Given the description of an element on the screen output the (x, y) to click on. 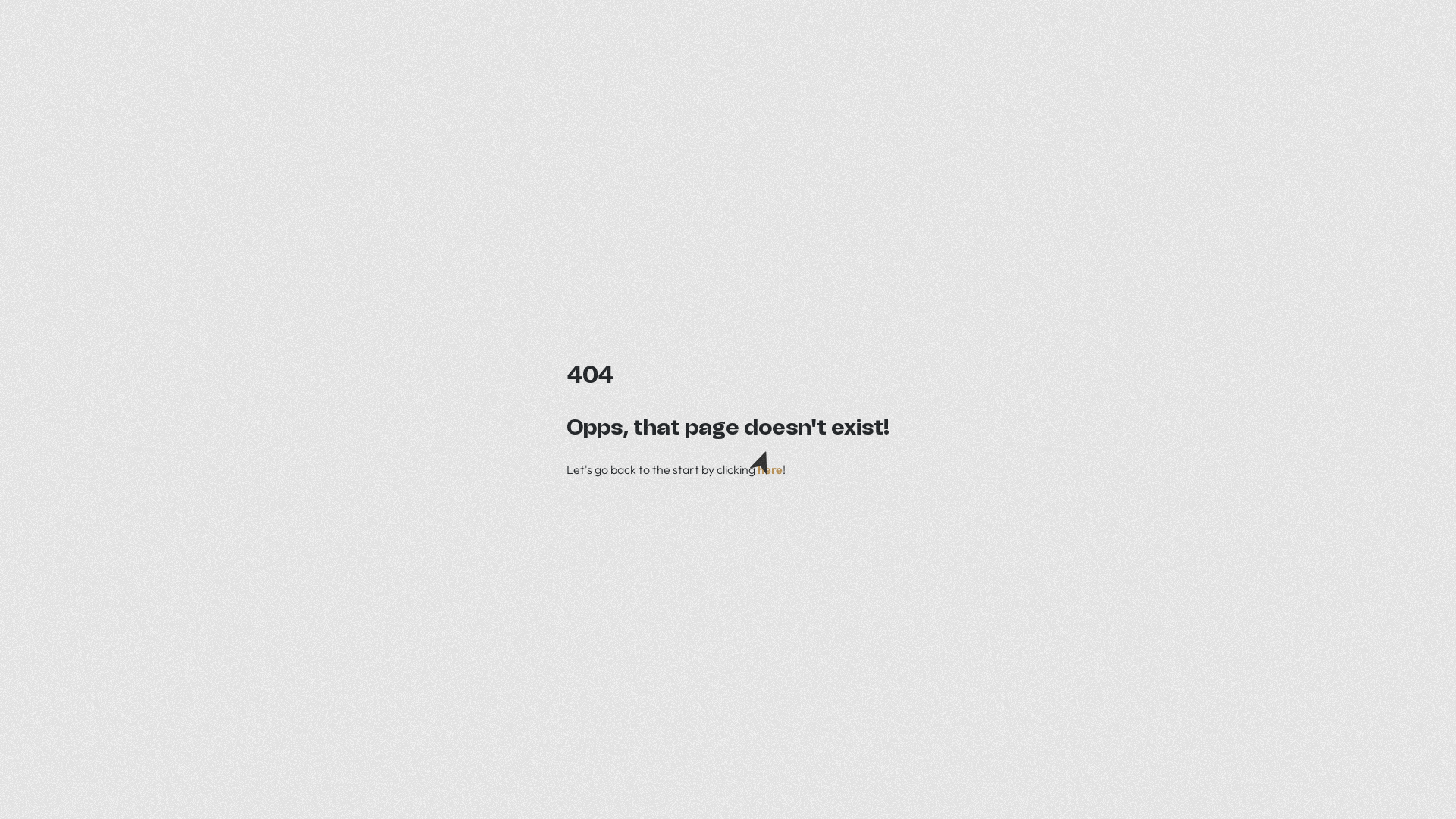
here Element type: text (769, 468)
